Given the description of an element on the screen output the (x, y) to click on. 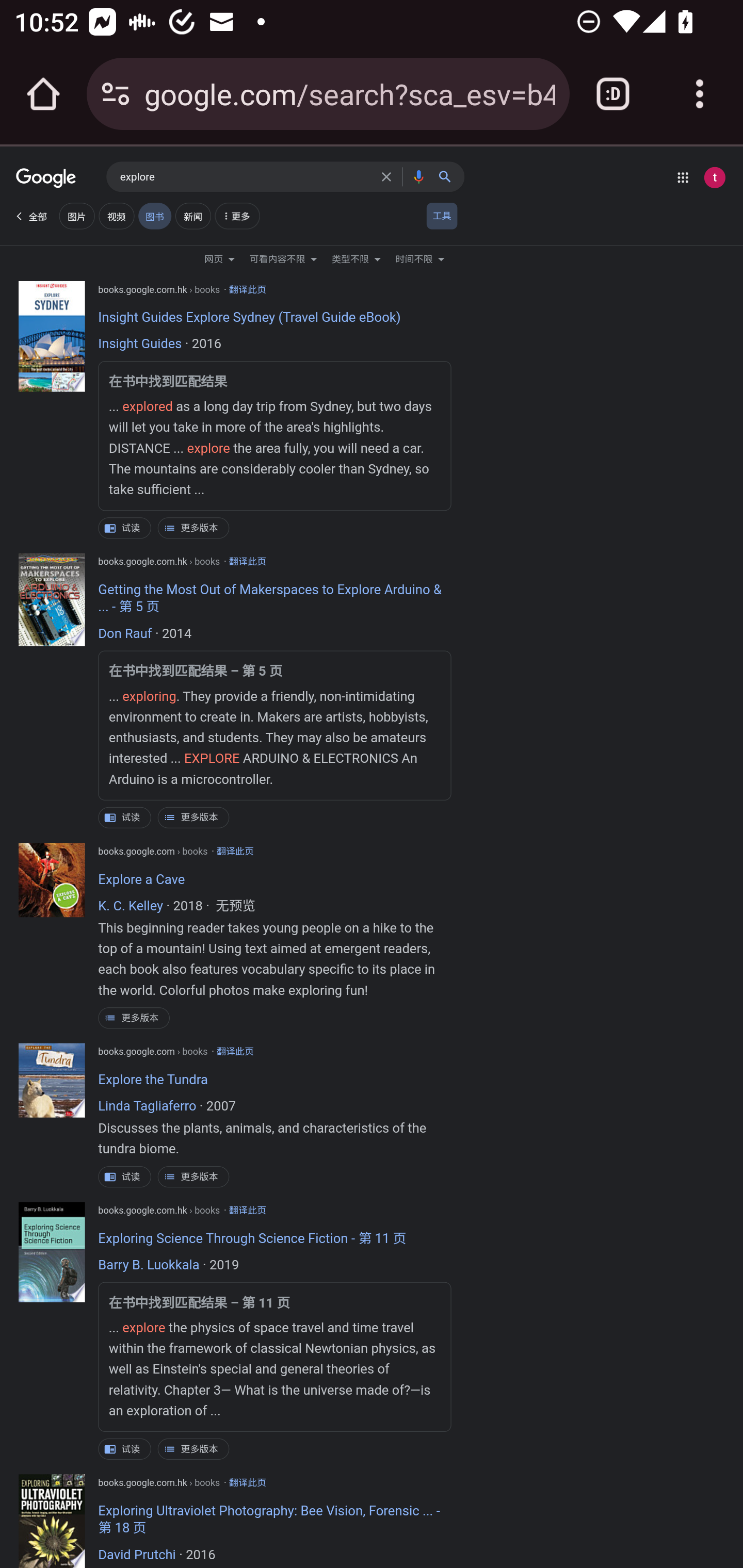
Open the home page (43, 93)
Connection is secure (115, 93)
Switch or close tabs (612, 93)
Customize and control Google Chrome (699, 93)
清除 (389, 176)
按语音搜索 (418, 176)
Google 搜索 (448, 176)
Google 应用 (682, 177)
Google 账号： test appium (testappium002@gmail.com) (714, 177)
Google Google Google (46, 179)
explore (245, 177)
全部 (30, 215)
图片 (75, 215)
视频 (116, 215)
新闻 (192, 215)
More Filters (236, 217)
工具 (441, 215)
翻译此页 (247, 289)
Insight Guides (140, 344)
试读 (124, 528)
更多版本 (192, 528)
翻译此页 (247, 561)
Don Rauf (125, 634)
试读 (124, 816)
更多版本 (192, 816)
翻译此页 (235, 851)
K. C. Kelley (130, 906)
更多版本 (133, 1017)
翻译此页 (235, 1051)
Linda Tagliaferro (147, 1106)
试读 (124, 1176)
更多版本 (192, 1176)
翻译此页 (247, 1210)
Barry B. Luokkala (148, 1265)
试读 (124, 1448)
更多版本 (192, 1448)
翻译此页 (247, 1482)
David Prutchi (137, 1555)
